Given the description of an element on the screen output the (x, y) to click on. 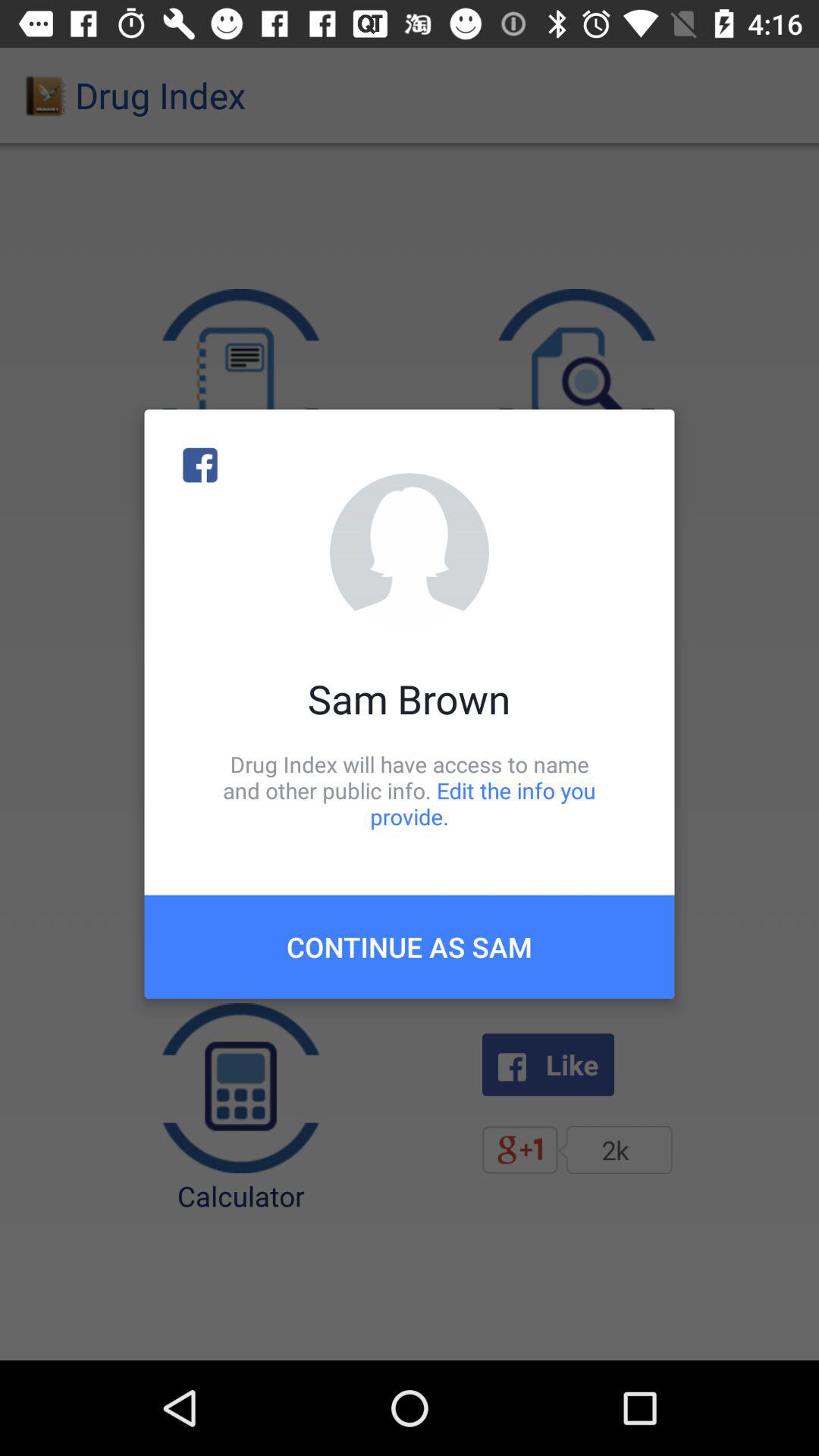
click the continue as sam (409, 946)
